Given the description of an element on the screen output the (x, y) to click on. 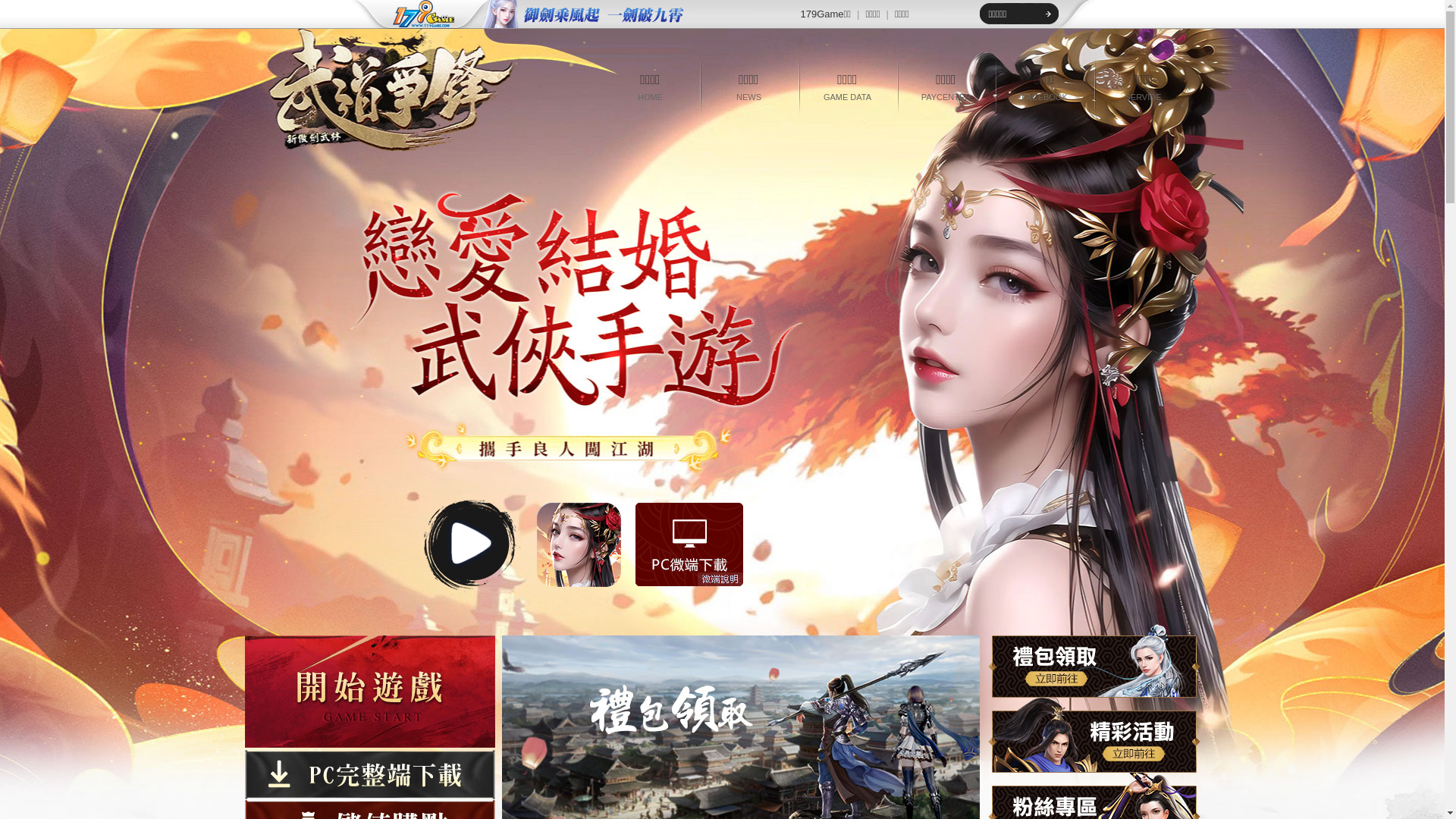
179game Element type: text (412, 14)
